Given the description of an element on the screen output the (x, y) to click on. 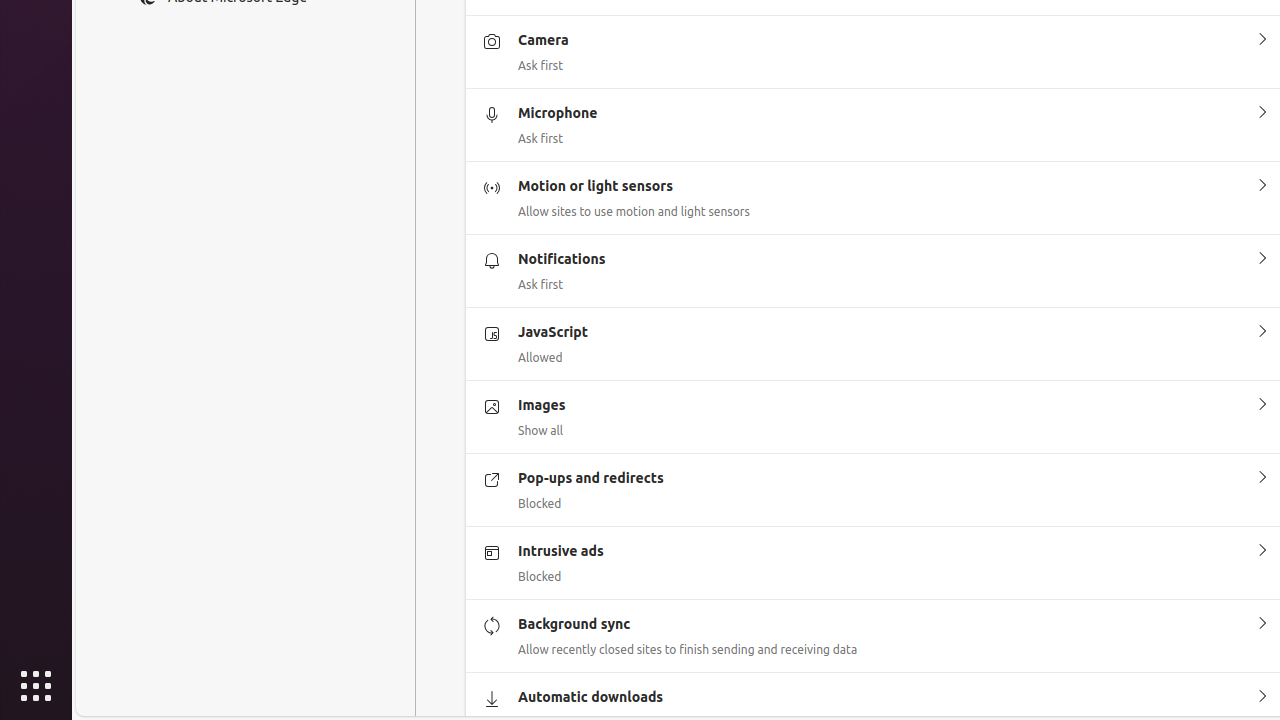
Motion or light sensors Element type: push-button (1262, 186)
Show Applications Element type: toggle-button (36, 686)
Automatic downloads Element type: push-button (1262, 697)
JavaScript Element type: push-button (1262, 332)
Background sync Element type: push-button (1262, 624)
